Given the description of an element on the screen output the (x, y) to click on. 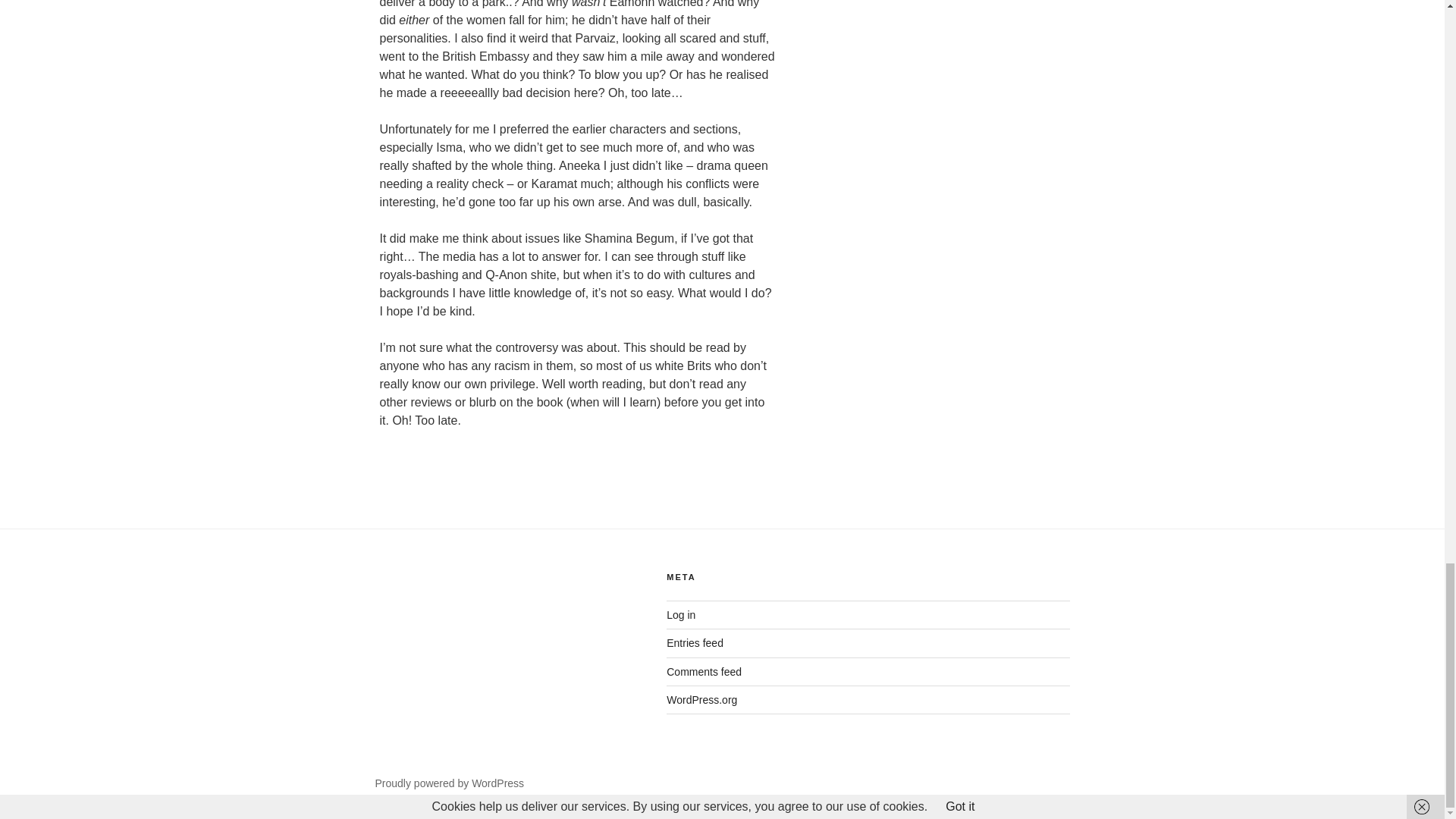
Log in (680, 614)
Comments feed (703, 671)
WordPress.org (701, 699)
Entries feed (694, 643)
Proudly powered by WordPress (449, 783)
